Given the description of an element on the screen output the (x, y) to click on. 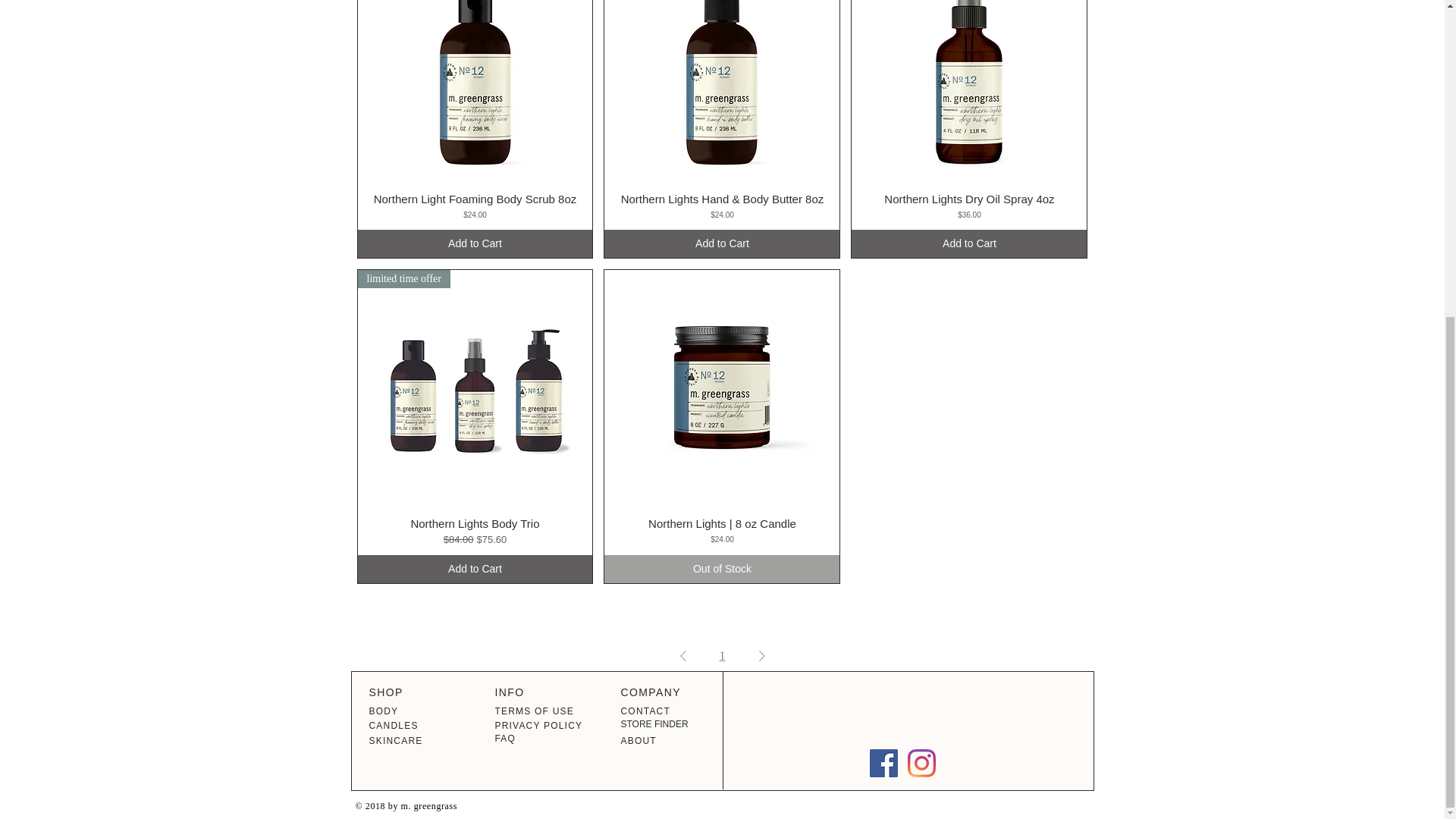
Add to Cart (475, 243)
Add to Cart (722, 243)
limited time offer (475, 387)
Add to Cart (968, 243)
